Given the description of an element on the screen output the (x, y) to click on. 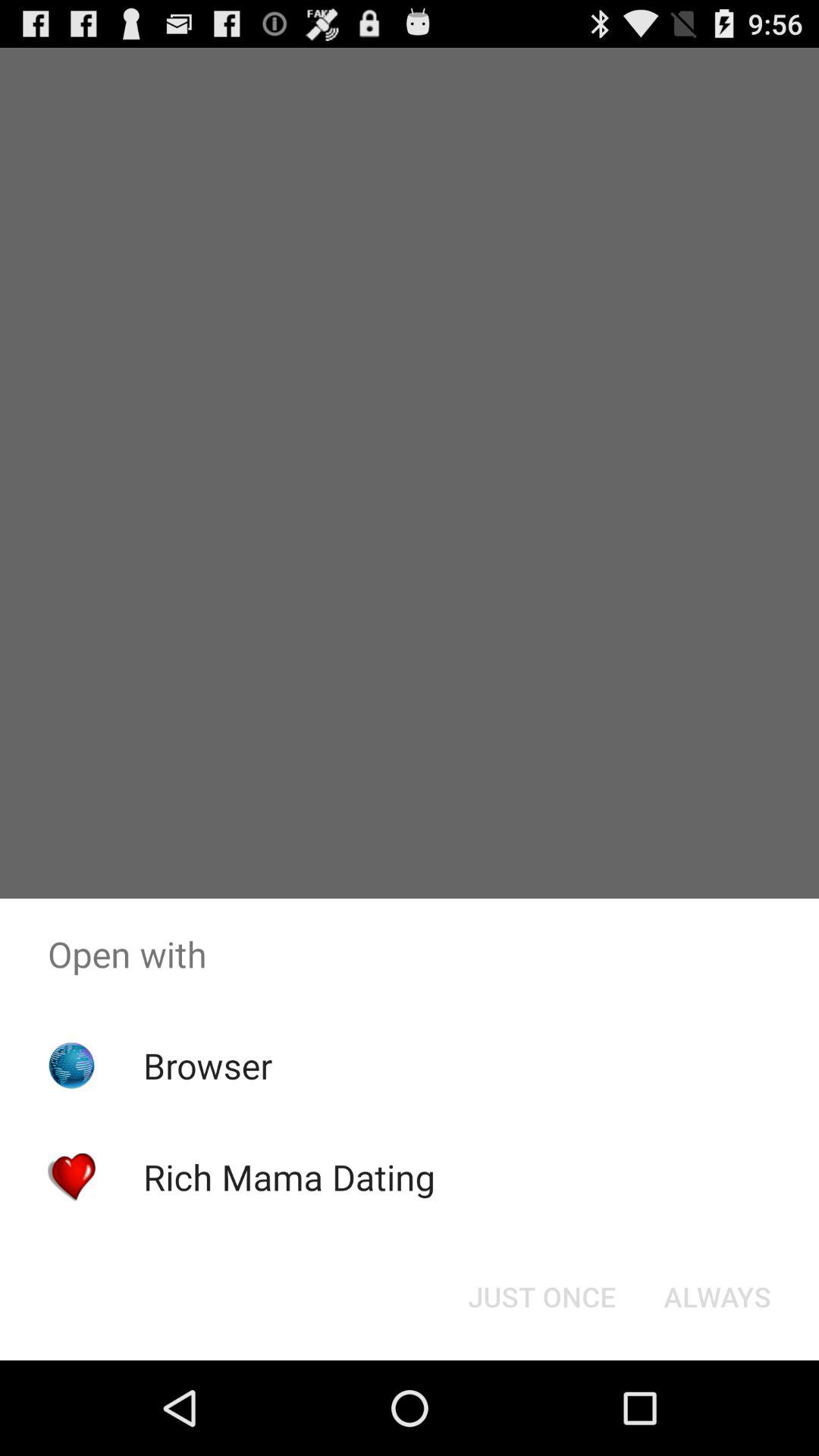
flip until rich mama dating (289, 1176)
